Given the description of an element on the screen output the (x, y) to click on. 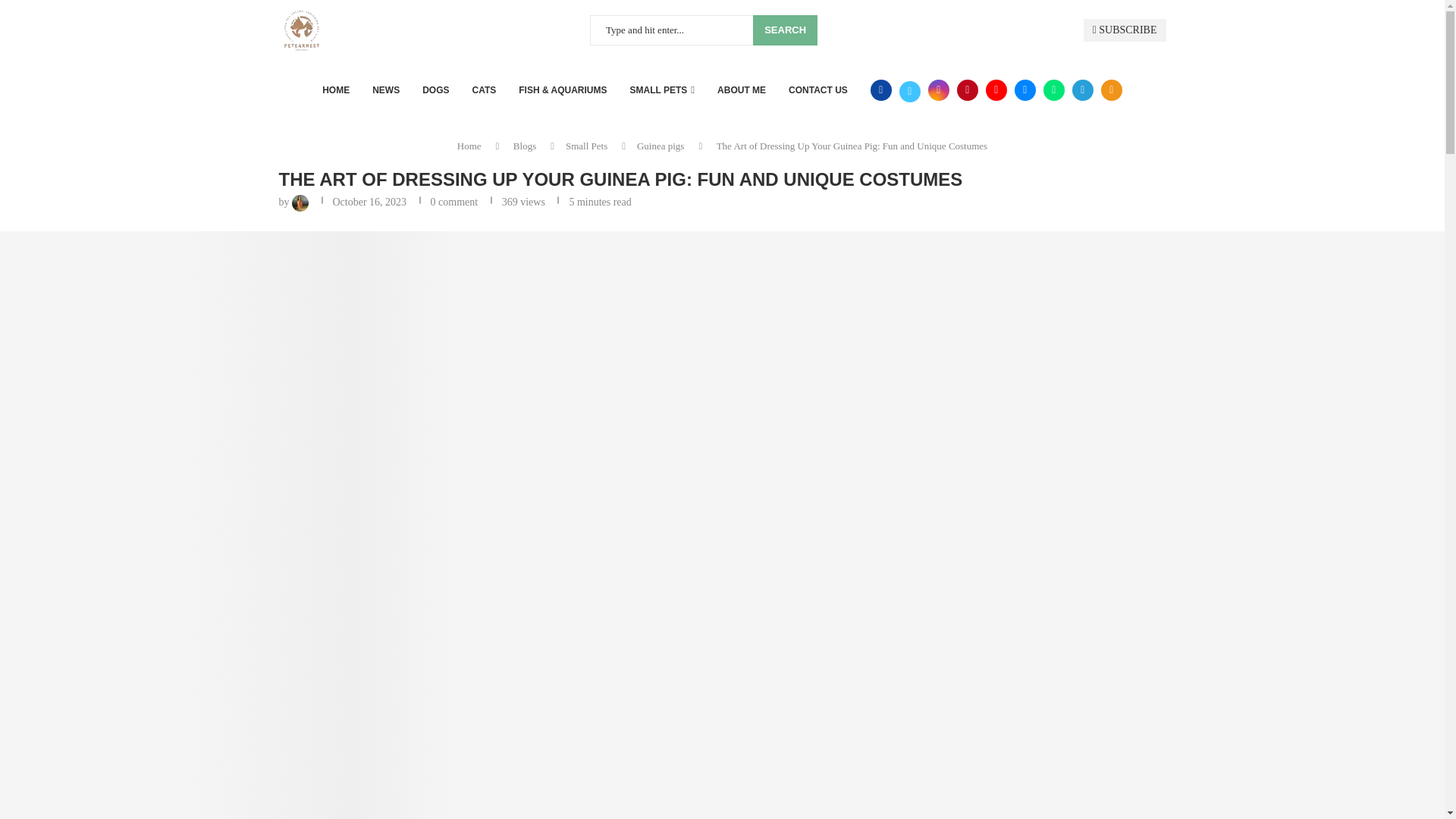
SEARCH (784, 30)
SMALL PETS (662, 89)
SUBSCRIBE (1124, 29)
